Given the description of an element on the screen output the (x, y) to click on. 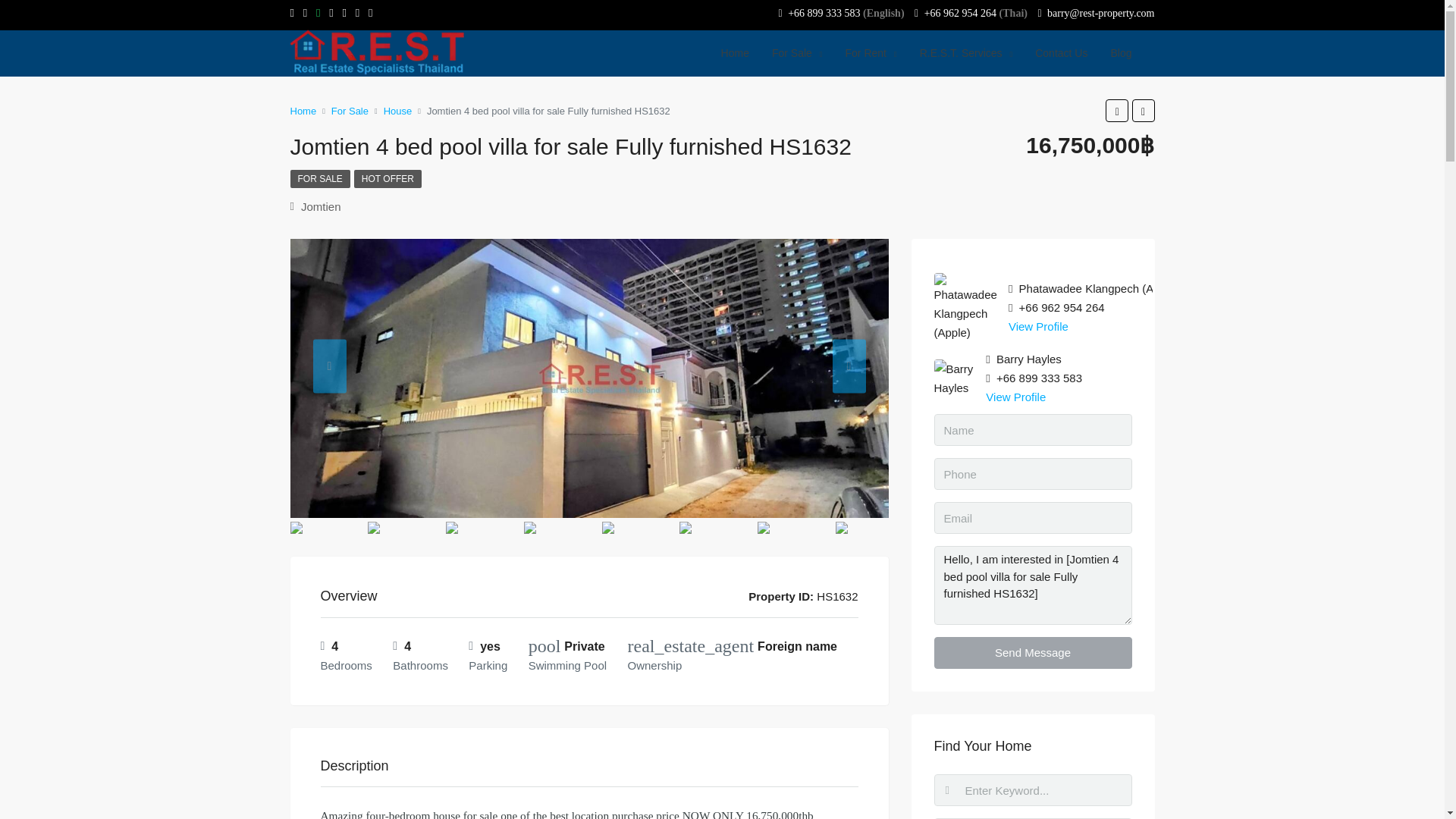
For Sale (797, 53)
Home (735, 53)
For Rent (871, 53)
